Given the description of an element on the screen output the (x, y) to click on. 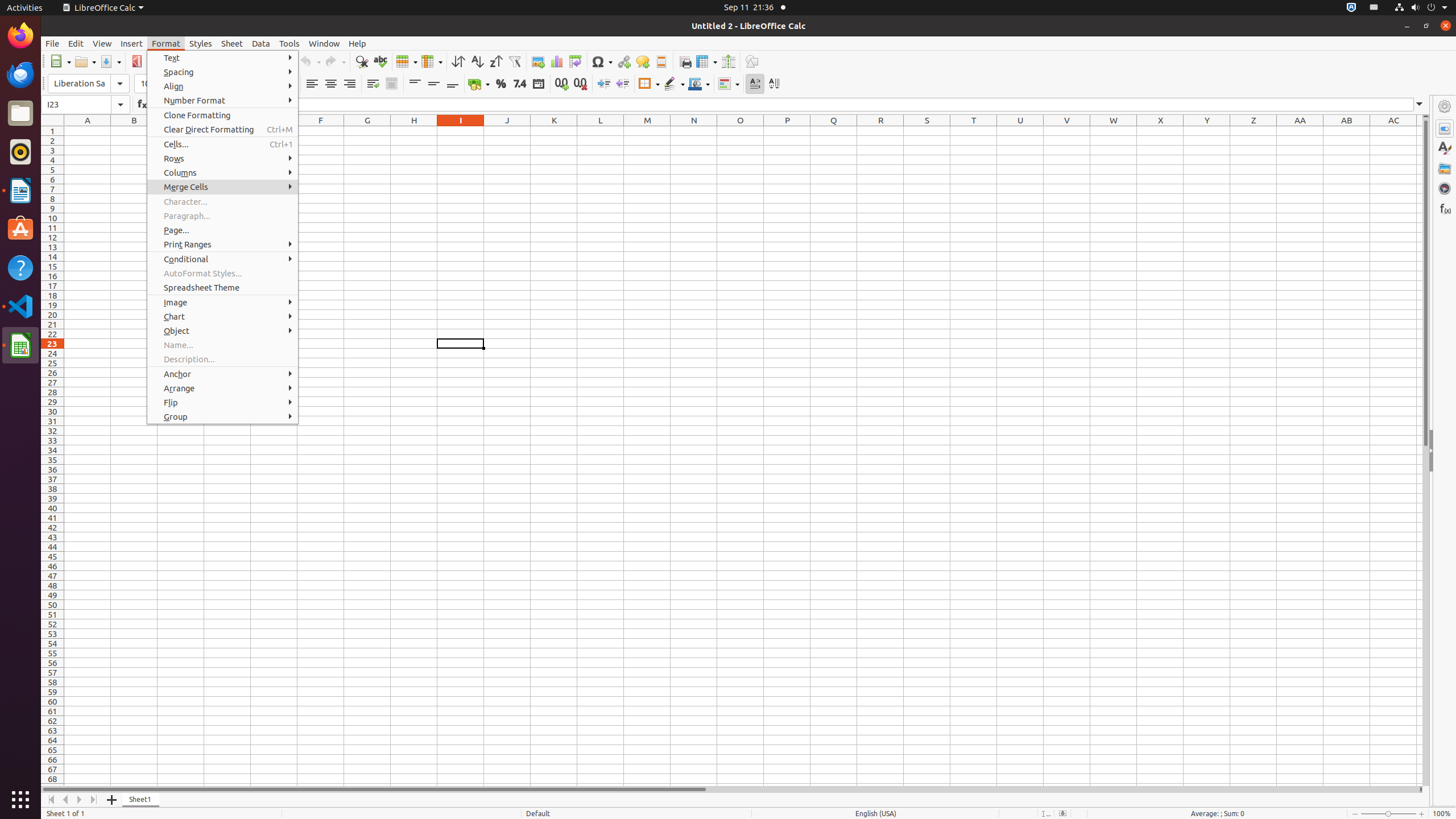
Name... Element type: menu-item (222, 344)
R1 Element type: table-cell (880, 130)
Open Element type: push-button (84, 61)
Symbol Element type: push-button (601, 61)
